Given the description of an element on the screen output the (x, y) to click on. 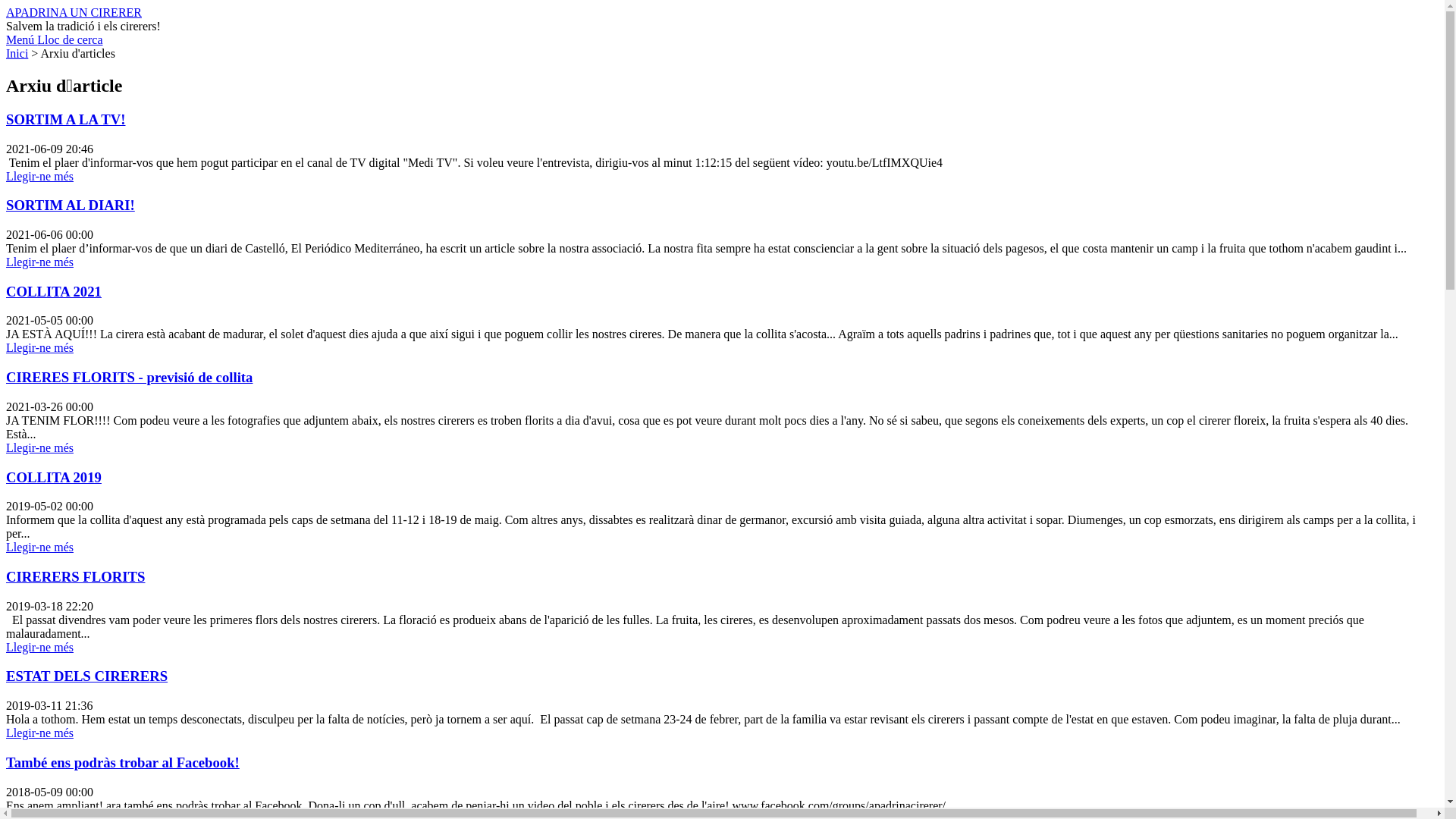
Inici Element type: text (17, 53)
ESTAT DELS CIRERERS Element type: text (86, 676)
CIRERERS FLORITS Element type: text (75, 576)
SORTIM A LA TV! Element type: text (65, 119)
COLLITA 2021 Element type: text (53, 291)
SORTIM AL DIARI! Element type: text (70, 205)
COLLITA 2019 Element type: text (53, 477)
APADRINA UN CIRERER Element type: text (73, 12)
Lloc de cerca Element type: text (69, 39)
